Given the description of an element on the screen output the (x, y) to click on. 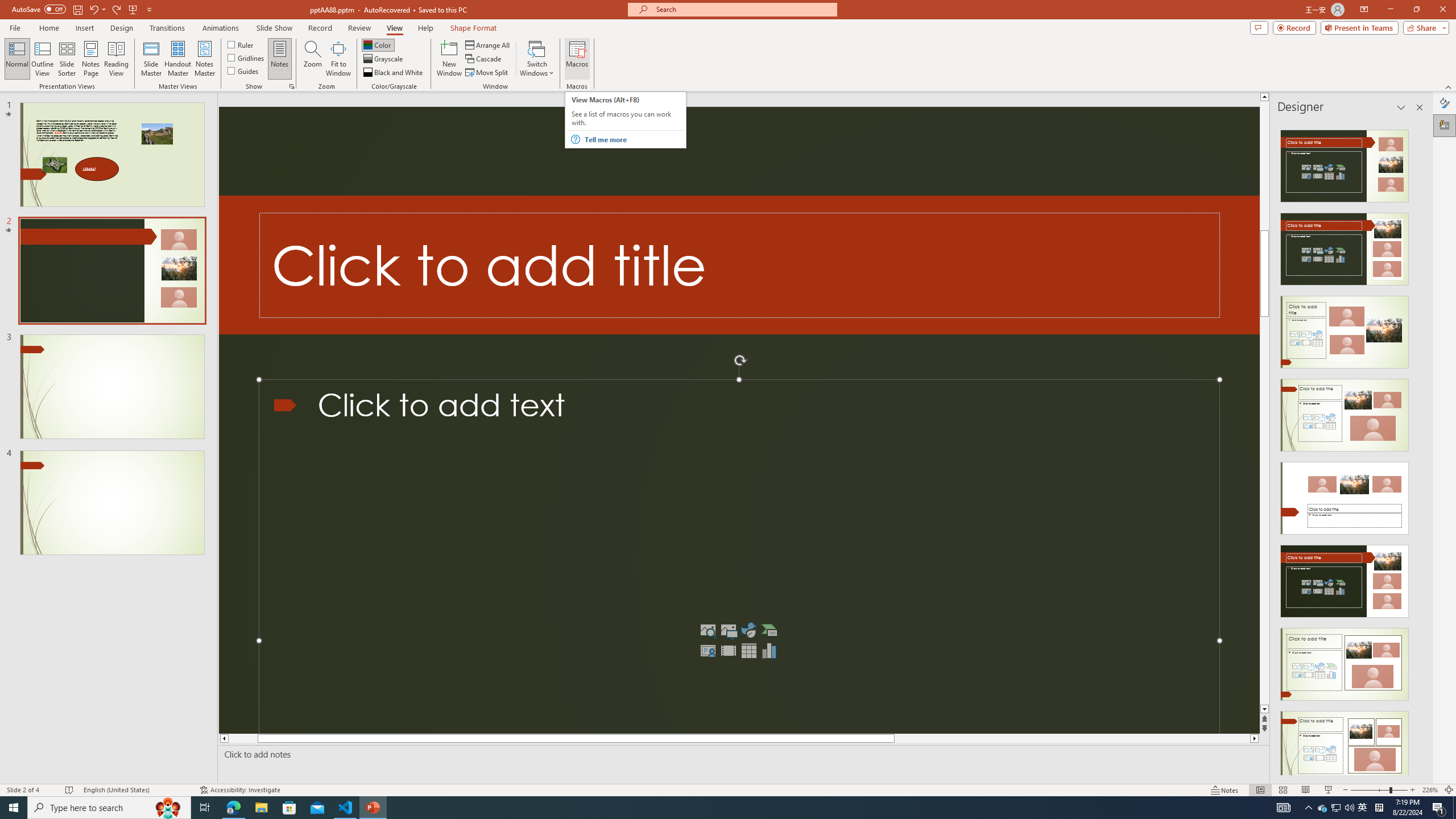
Zoom 226% (1430, 790)
Guides (243, 69)
